Given the description of an element on the screen output the (x, y) to click on. 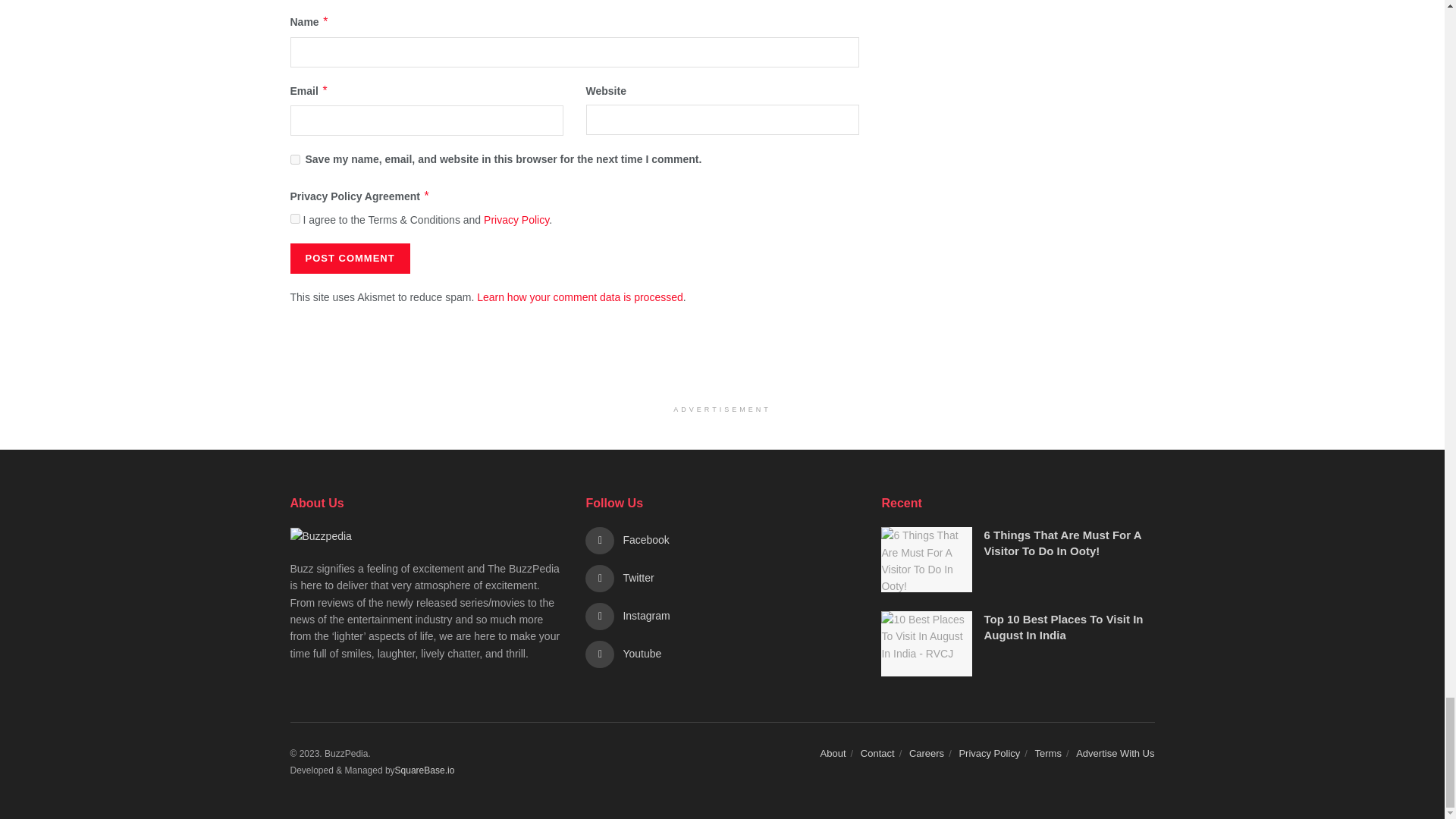
yes (294, 159)
Post Comment (349, 258)
on (294, 218)
